Given the description of an element on the screen output the (x, y) to click on. 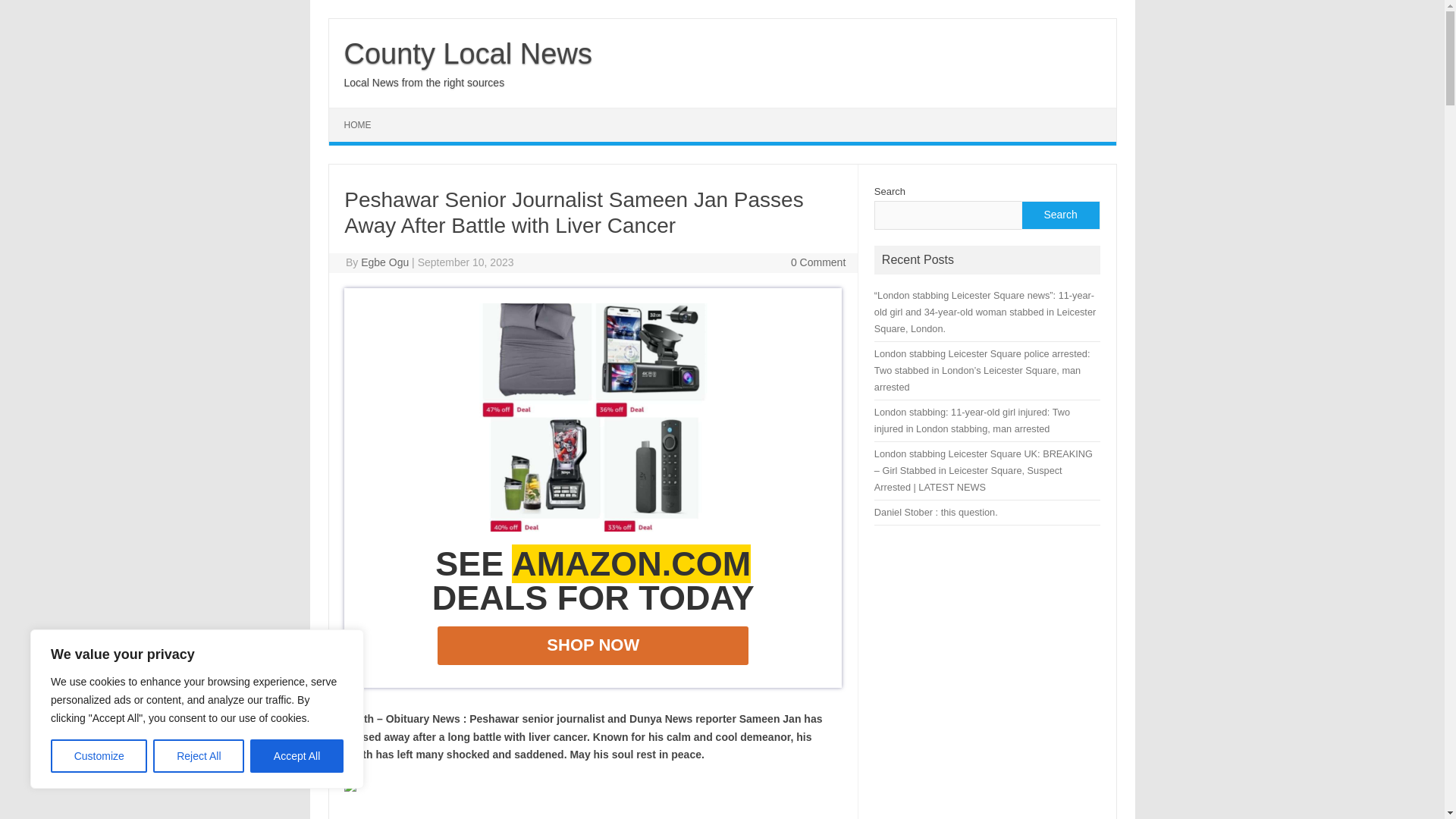
Egbe Ogu (385, 262)
HOME (358, 124)
Accept All (296, 756)
Customize (98, 756)
Local News from the right sources (424, 82)
County Local News (467, 53)
0 Comment (817, 262)
County Local News (467, 53)
